Given the description of an element on the screen output the (x, y) to click on. 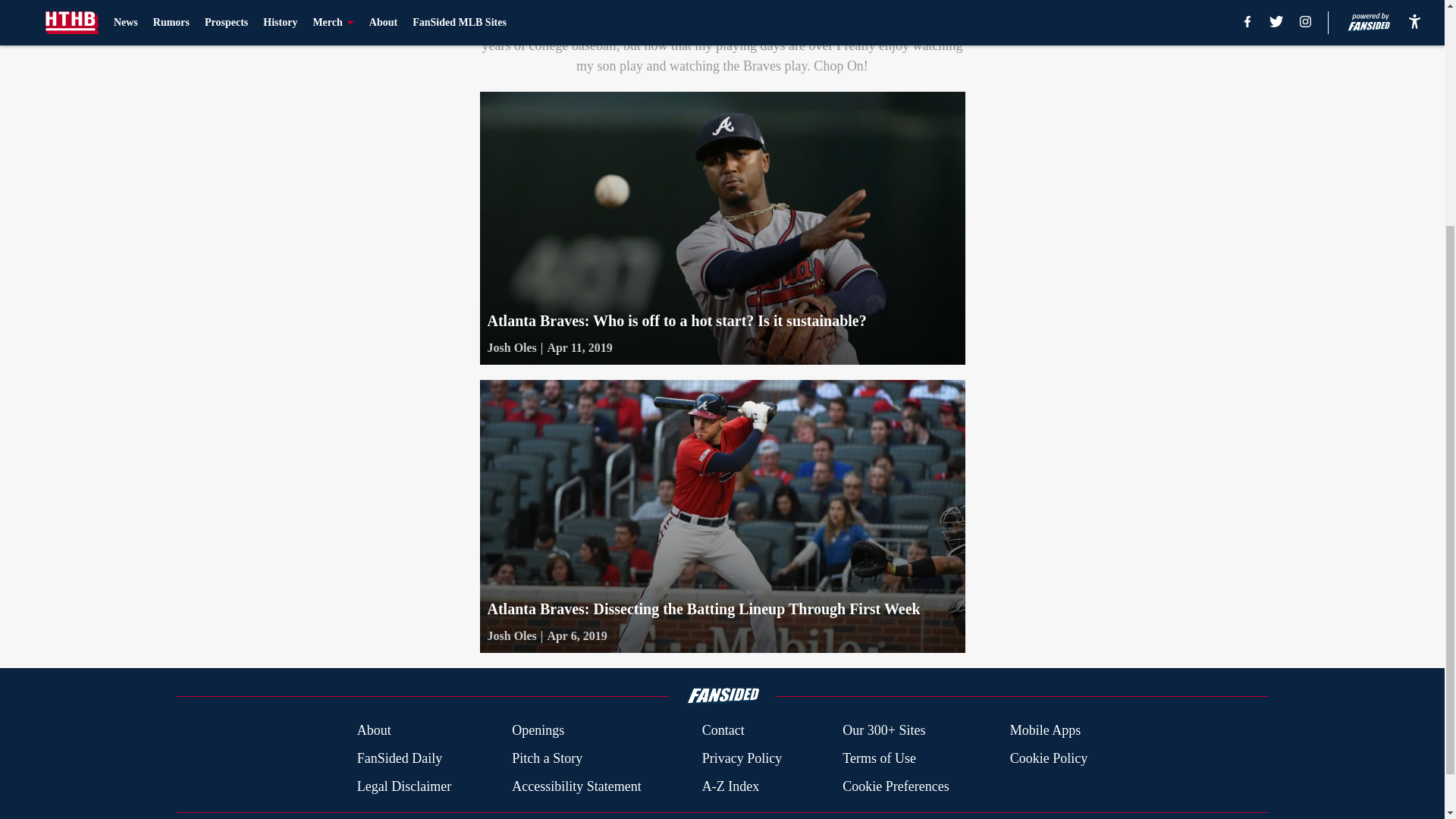
Terms of Use (879, 758)
Mobile Apps (1045, 730)
Legal Disclaimer (403, 786)
Openings (538, 730)
Privacy Policy (742, 758)
Josh Oles (510, 636)
About (373, 730)
FanSided Daily (399, 758)
Josh Oles (510, 348)
